Given the description of an element on the screen output the (x, y) to click on. 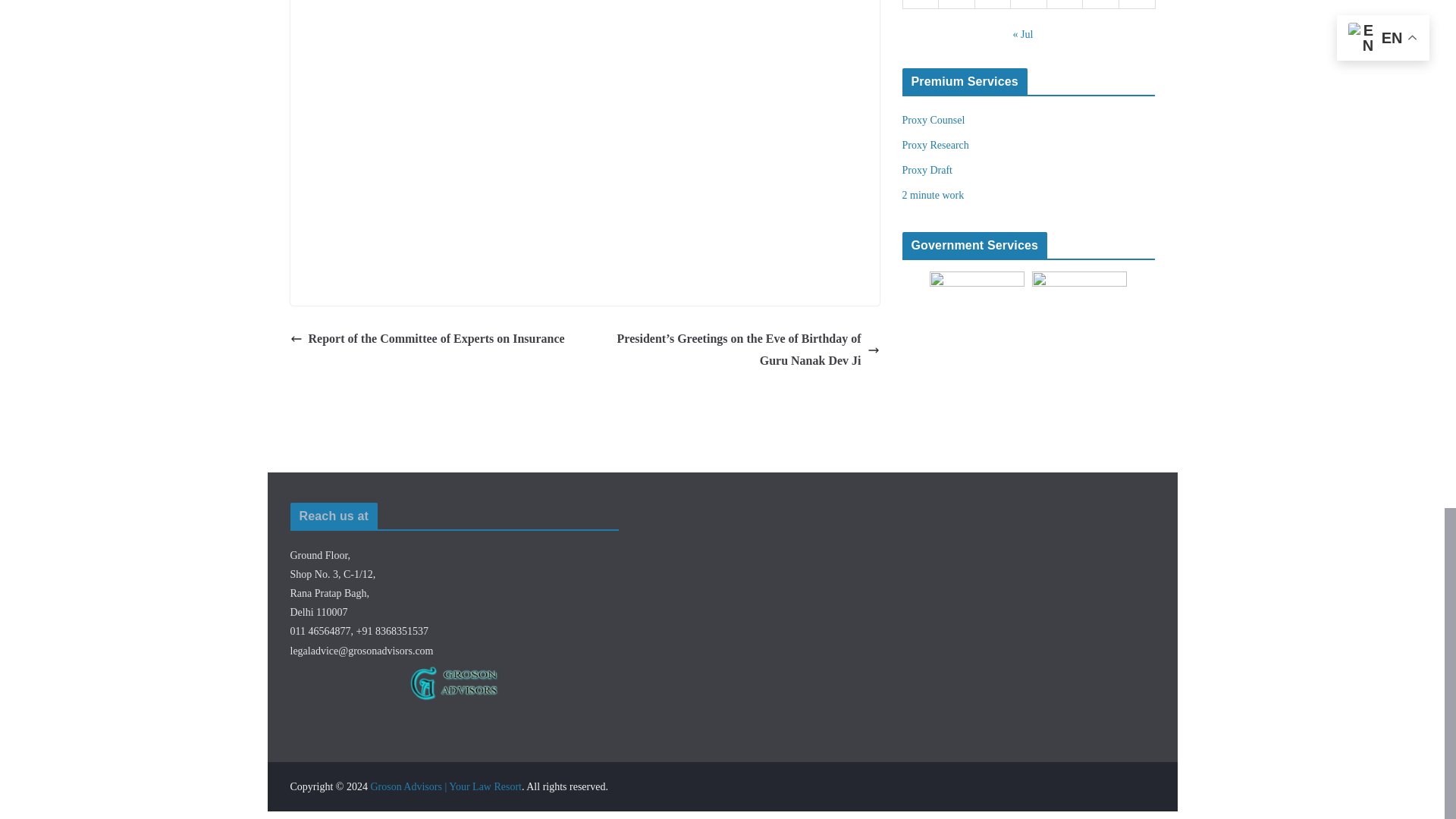
Report of the Committee of Experts on Insurance (426, 339)
